Given the description of an element on the screen output the (x, y) to click on. 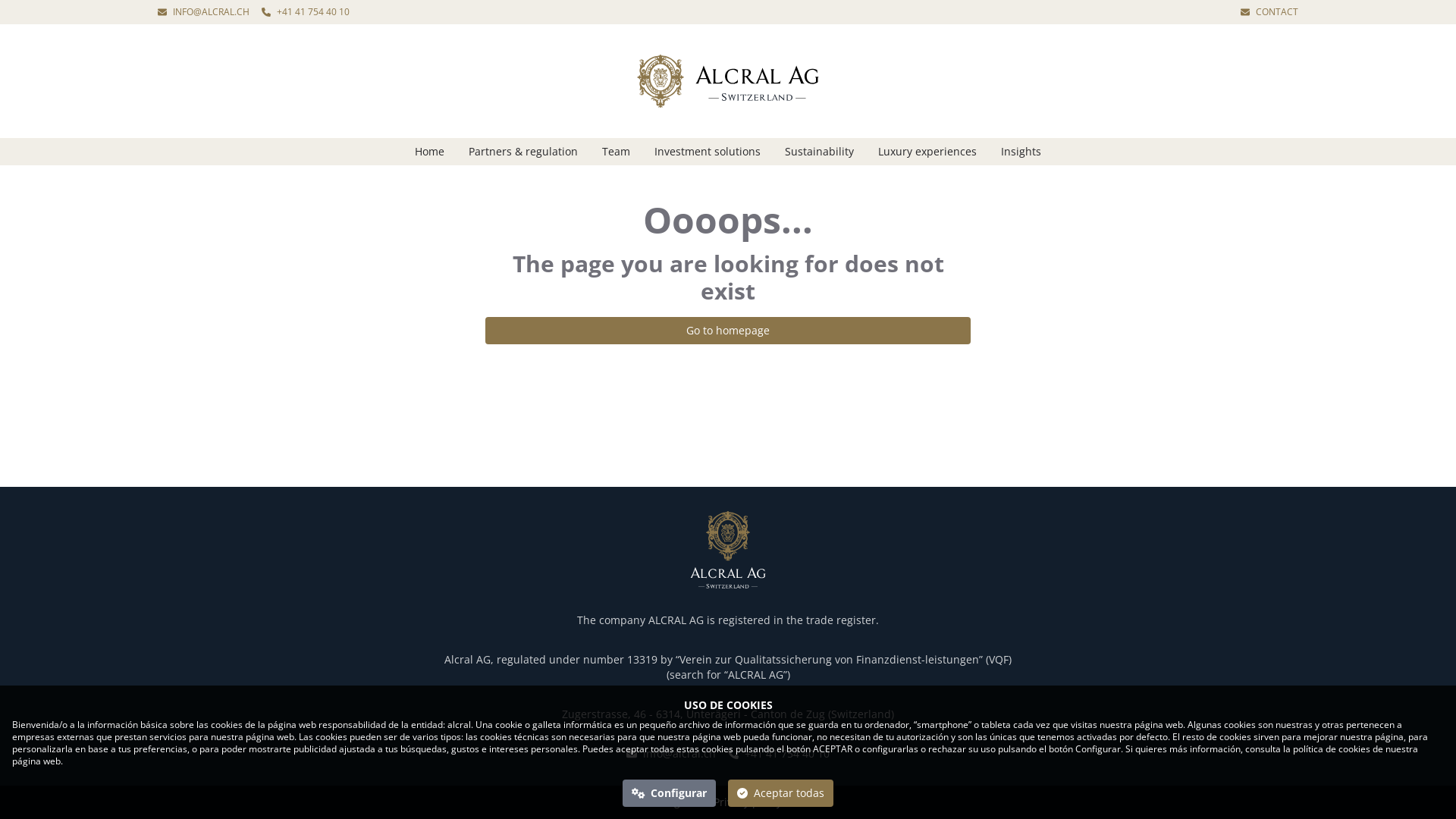
Home Element type: text (429, 151)
Legal Element type: text (681, 801)
Investment solutions Element type: text (707, 151)
+41 41 754 40 10 Element type: text (778, 753)
Insights Element type: text (1021, 151)
Configurar Element type: text (669, 792)
CONTACT Element type: text (1269, 12)
Sustainability Element type: text (818, 151)
Privacy policy Element type: text (752, 801)
logo Element type: hover (727, 549)
Team Element type: text (616, 151)
info@alcral.ch Element type: text (670, 753)
The company ALCRAL AG is registered in the trade register. Element type: text (727, 619)
+41 41 754 40 10 Element type: text (305, 12)
logo Element type: hover (728, 80)
Aceptar todas Element type: text (780, 792)
INFO@ALCRAL.CH Element type: text (203, 12)
Go to homepage Element type: text (727, 330)
Partners & regulation Element type: text (522, 151)
Luxury experiences Element type: text (927, 151)
